Given the description of an element on the screen output the (x, y) to click on. 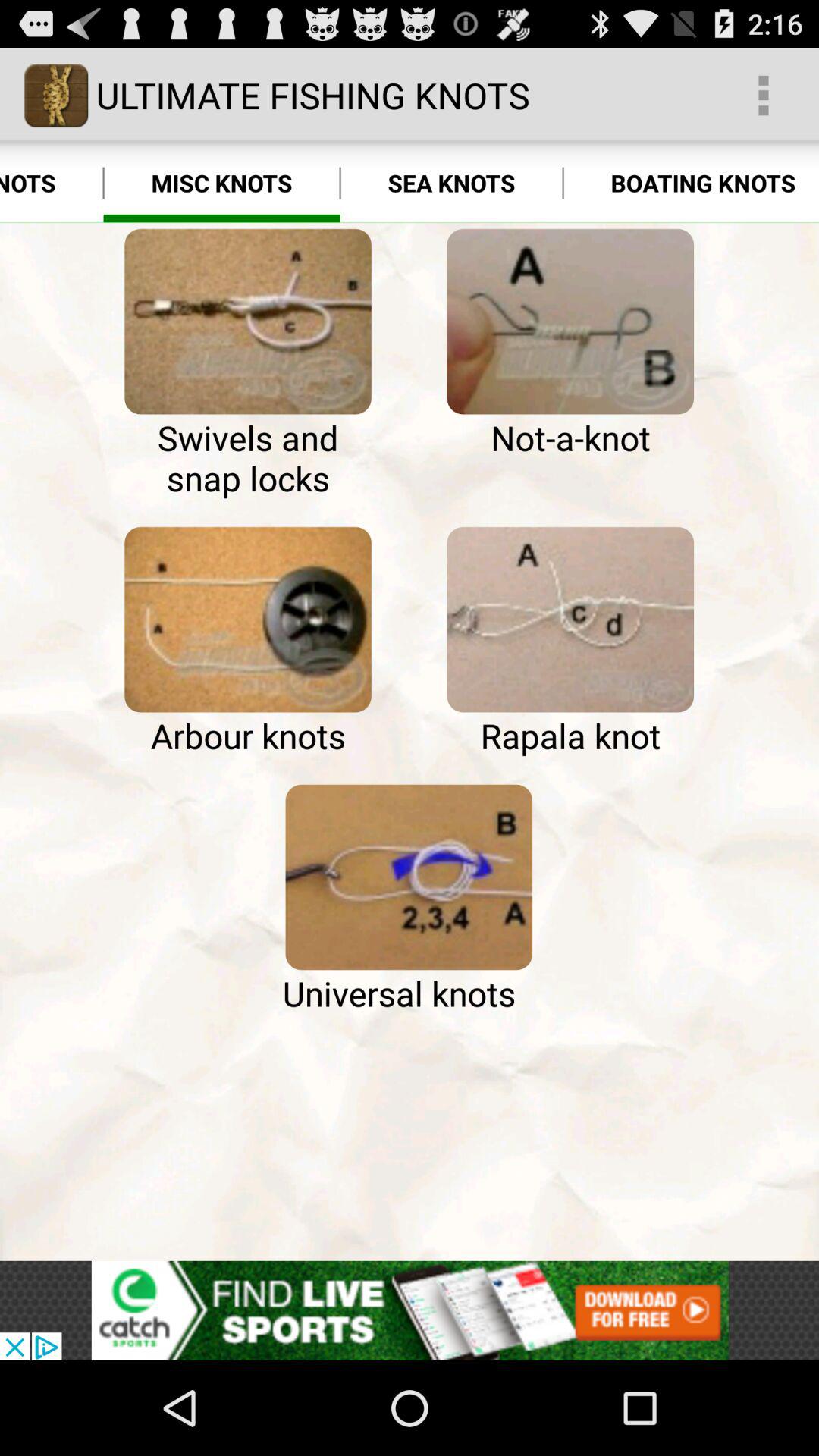
click to learn not-a-knot (570, 321)
